Given the description of an element on the screen output the (x, y) to click on. 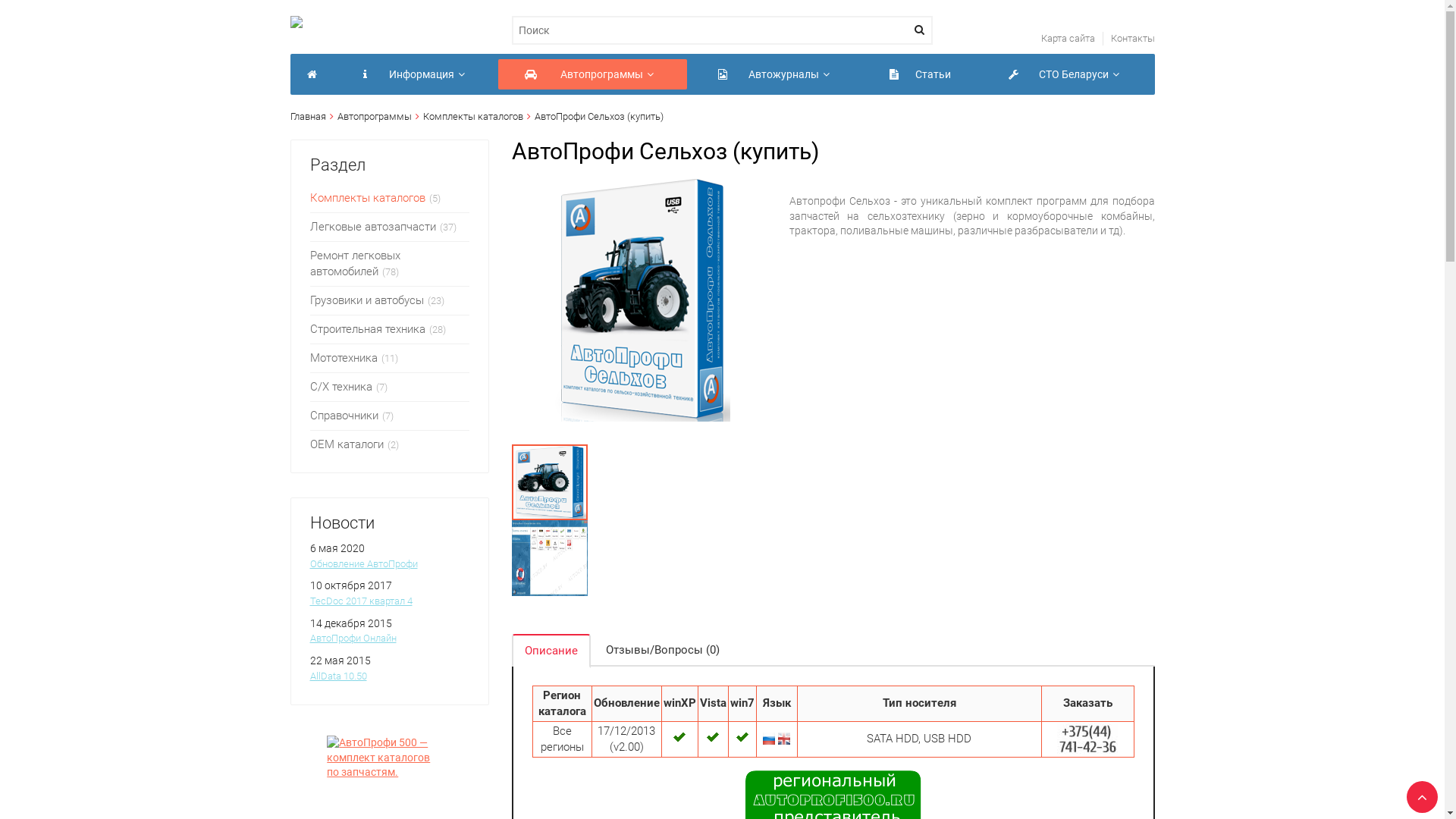
AllData 10.50 Element type: text (337, 675)
TOP Element type: text (1417, 792)
AUTOCD.BY Element type: hover (311, 73)
AUTOCD.BY Element type: hover (295, 22)
English Element type: hover (783, 738)
